Given the description of an element on the screen output the (x, y) to click on. 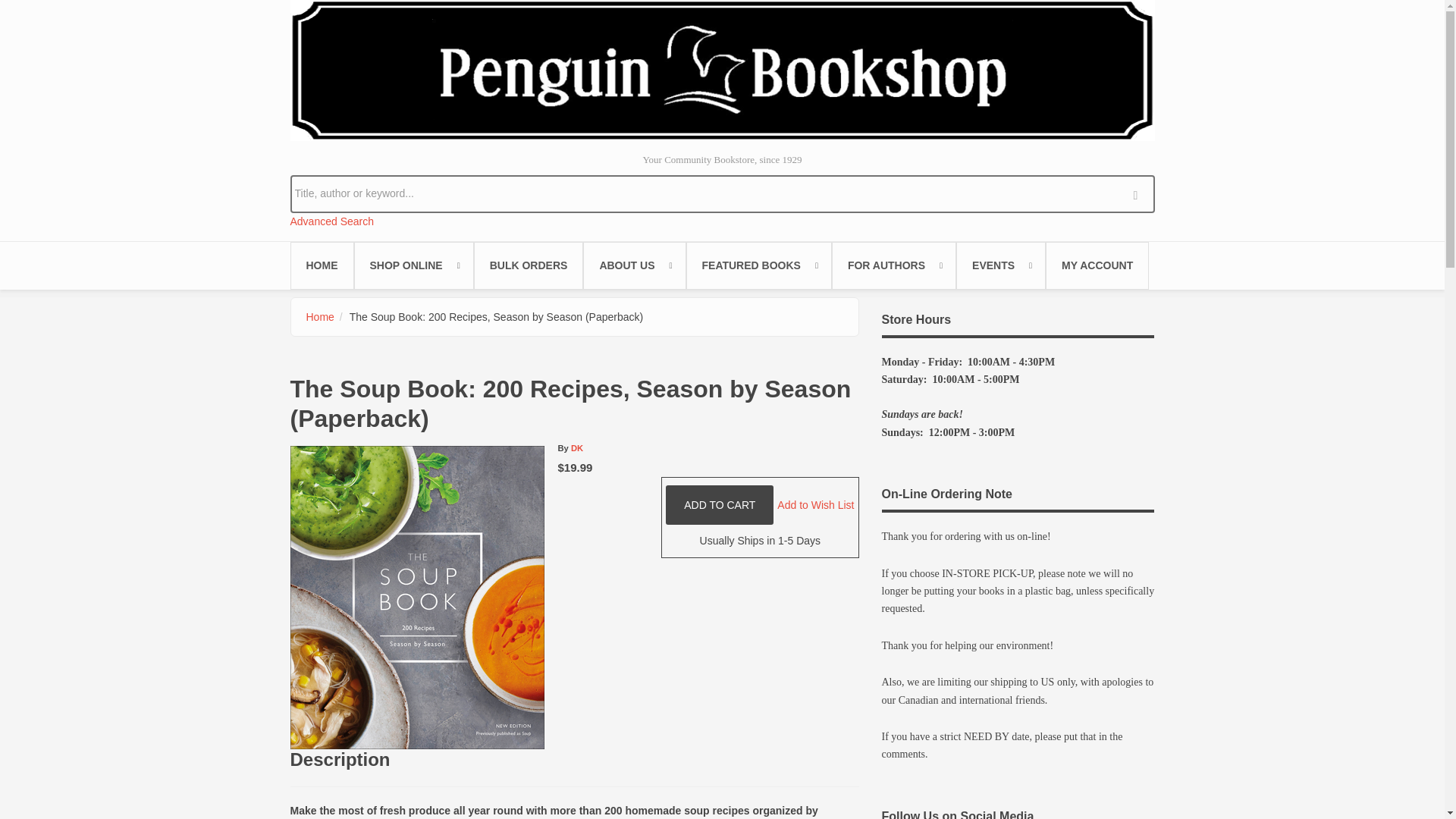
Add to Cart (719, 504)
Home (721, 69)
ABOUT US (634, 265)
Home (319, 316)
Advanced Search (331, 221)
Add to Cart (719, 504)
Title, author or keyword... (721, 193)
BULK ORDERS (528, 265)
MY ACCOUNT (1096, 265)
EVENTS (1000, 265)
